Given the description of an element on the screen output the (x, y) to click on. 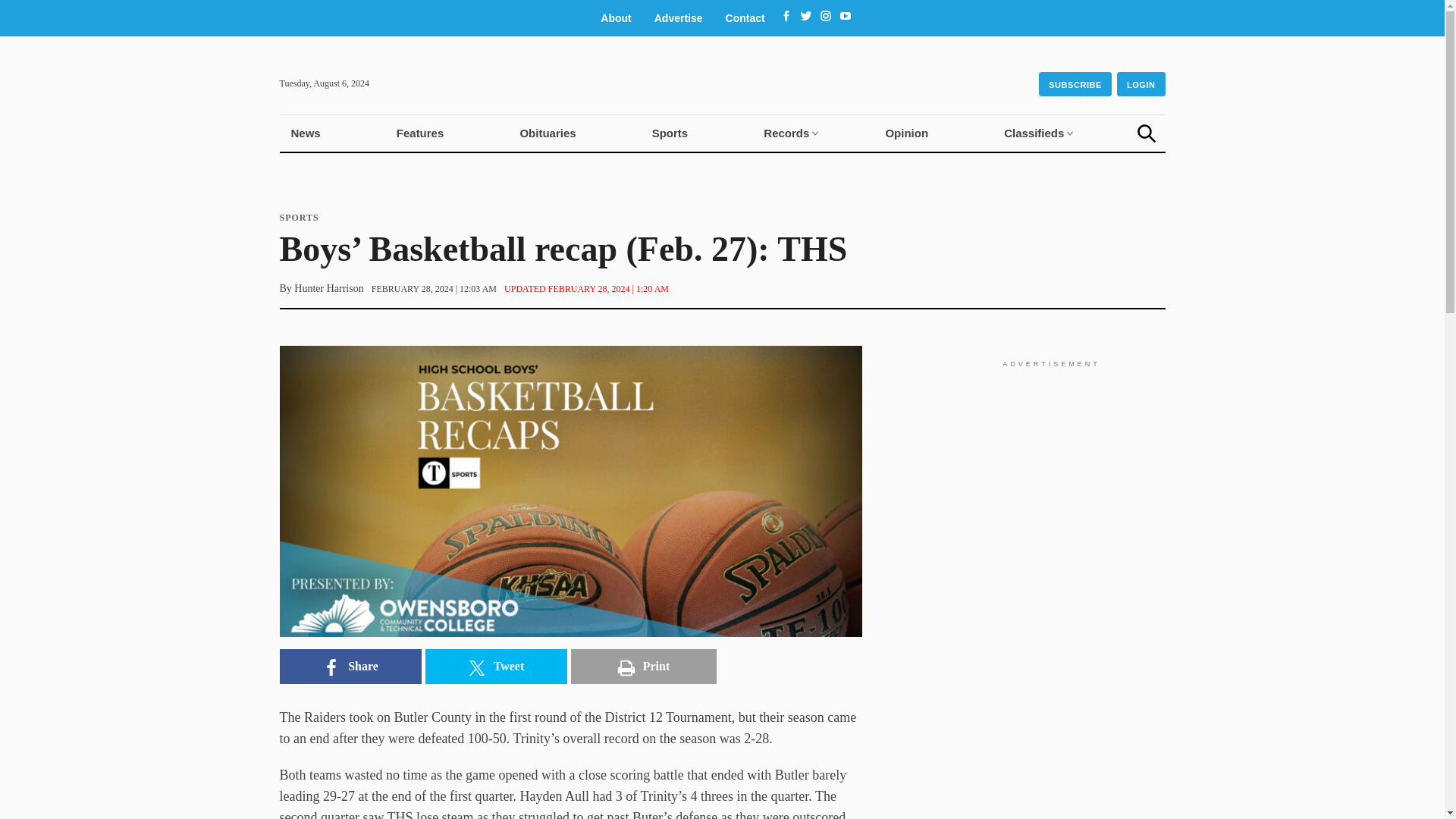
Share on Twitter (495, 666)
Features (420, 133)
Opinion (906, 133)
Records (786, 133)
News (305, 133)
About (615, 18)
Share on Facebook (349, 666)
Search (1146, 133)
Advertise (678, 18)
SUBSCRIBE (1075, 84)
